Given the description of an element on the screen output the (x, y) to click on. 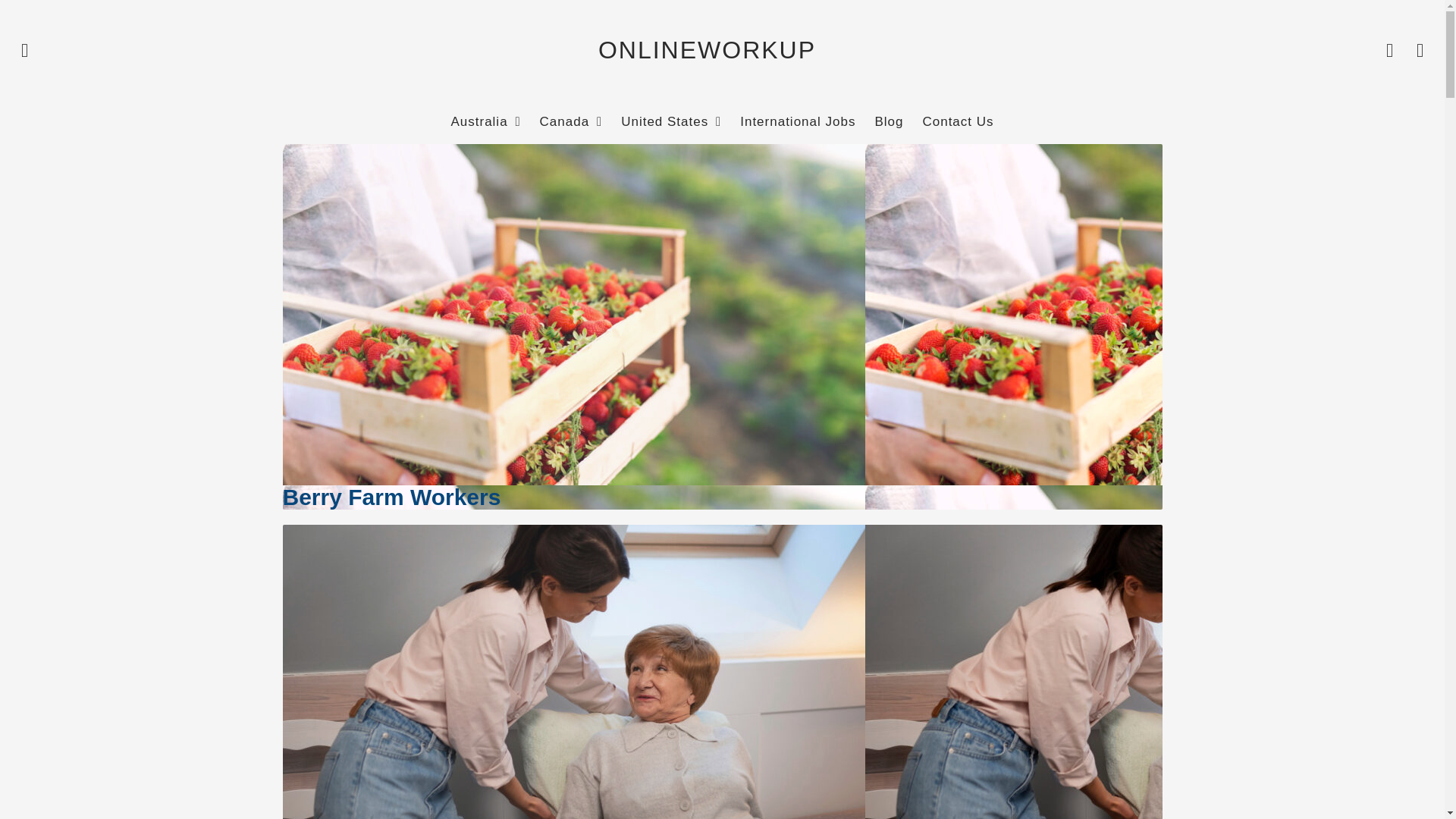
ONLINEWORKUP (706, 49)
United States (670, 122)
Australia (484, 122)
Canada (571, 122)
